Given the description of an element on the screen output the (x, y) to click on. 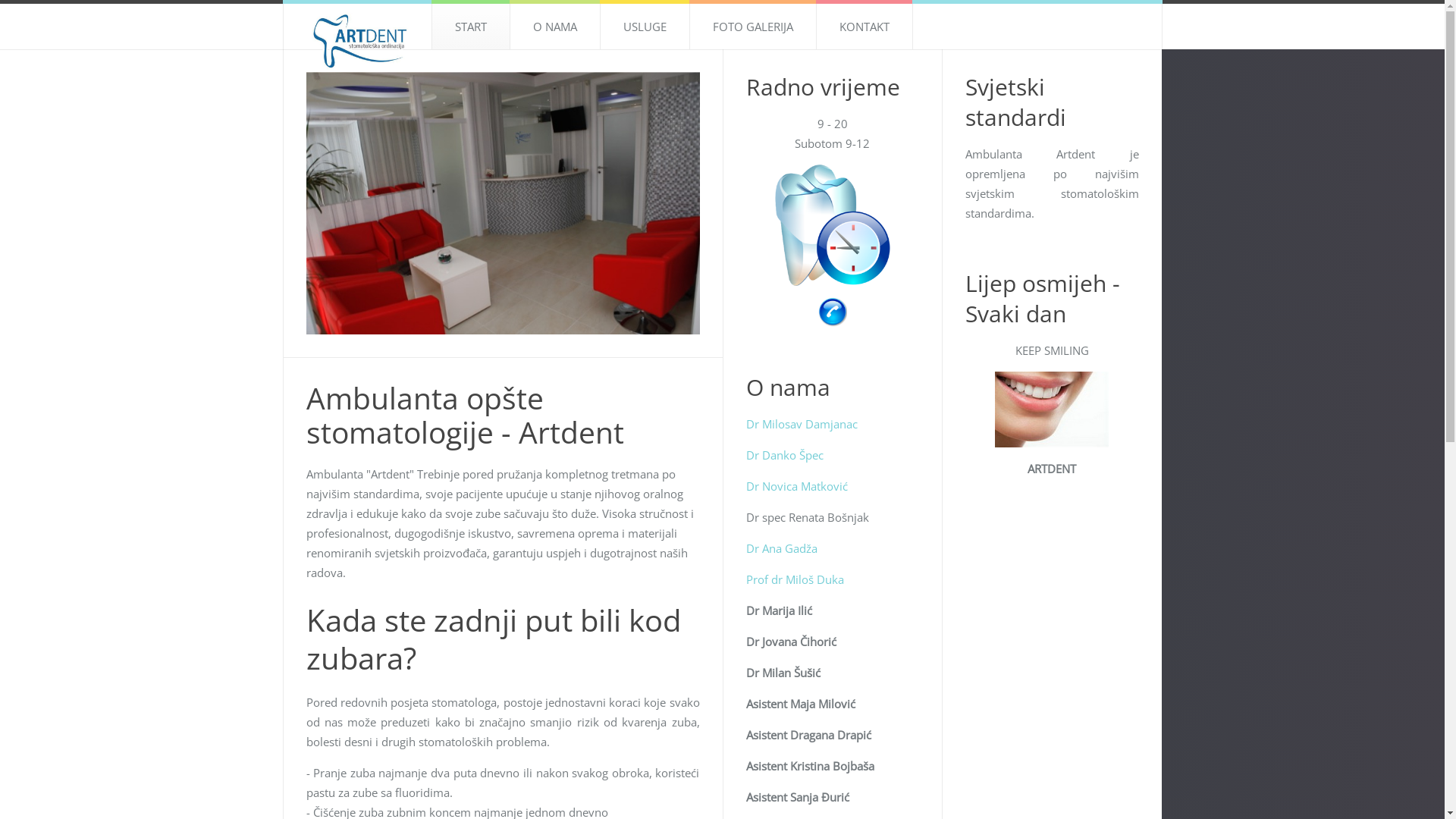
USLUGE Element type: text (643, 26)
Dr Milosav Damjanac Element type: text (801, 423)
O NAMA Element type: text (554, 26)
START Element type: text (469, 26)
KONTAKT Element type: text (863, 26)
FOTO GALERIJA Element type: text (751, 26)
